Given the description of an element on the screen output the (x, y) to click on. 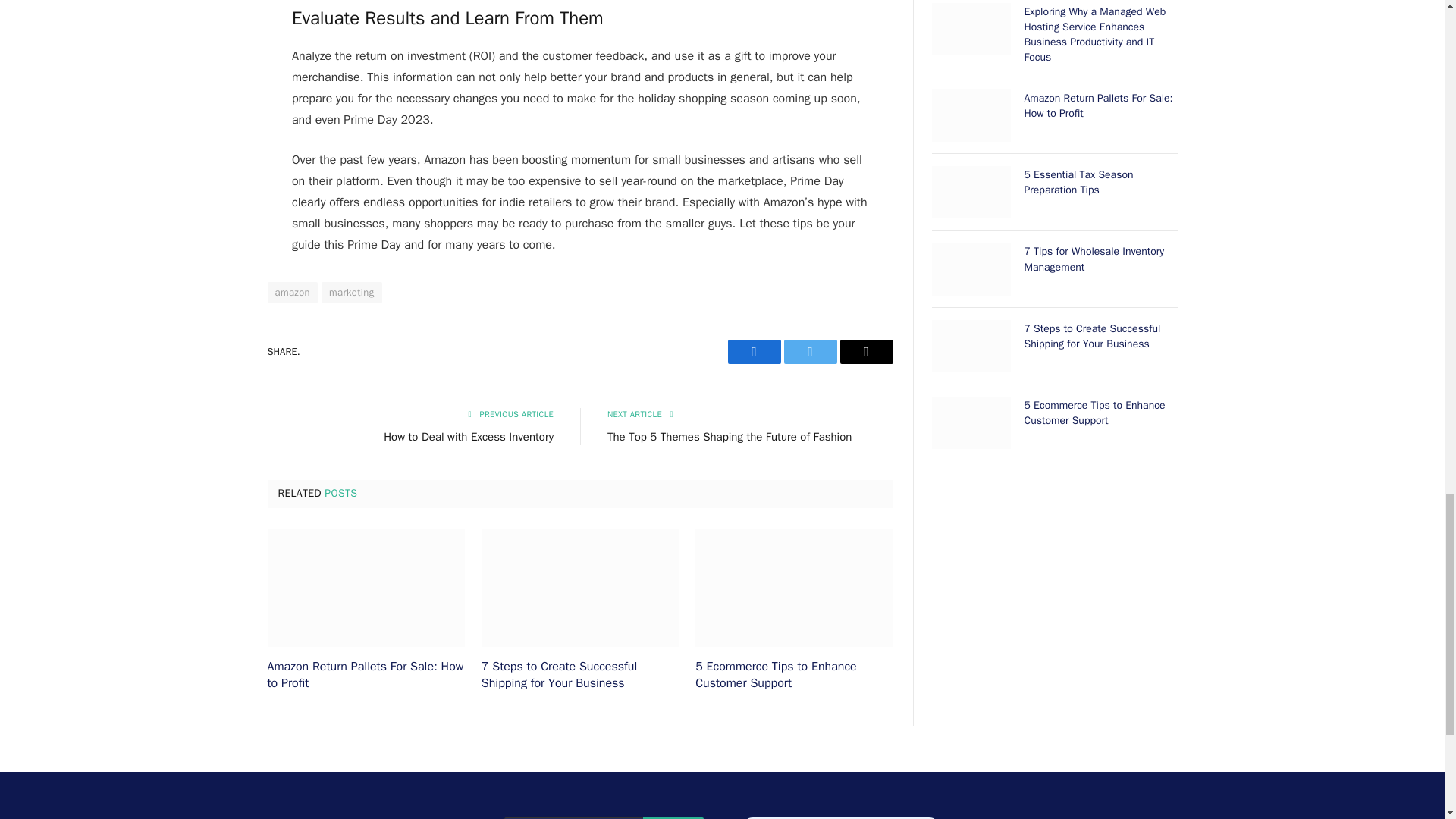
Search (673, 818)
Share on Facebook (754, 351)
7 Steps to Create Successful Shipping for Your Business (579, 588)
Share via Email (866, 351)
Search (673, 818)
5 Ecommerce Tips to Enhance Customer Support (793, 588)
Amazon Return Pallets For Sale: How to Profit (365, 588)
